Given the description of an element on the screen output the (x, y) to click on. 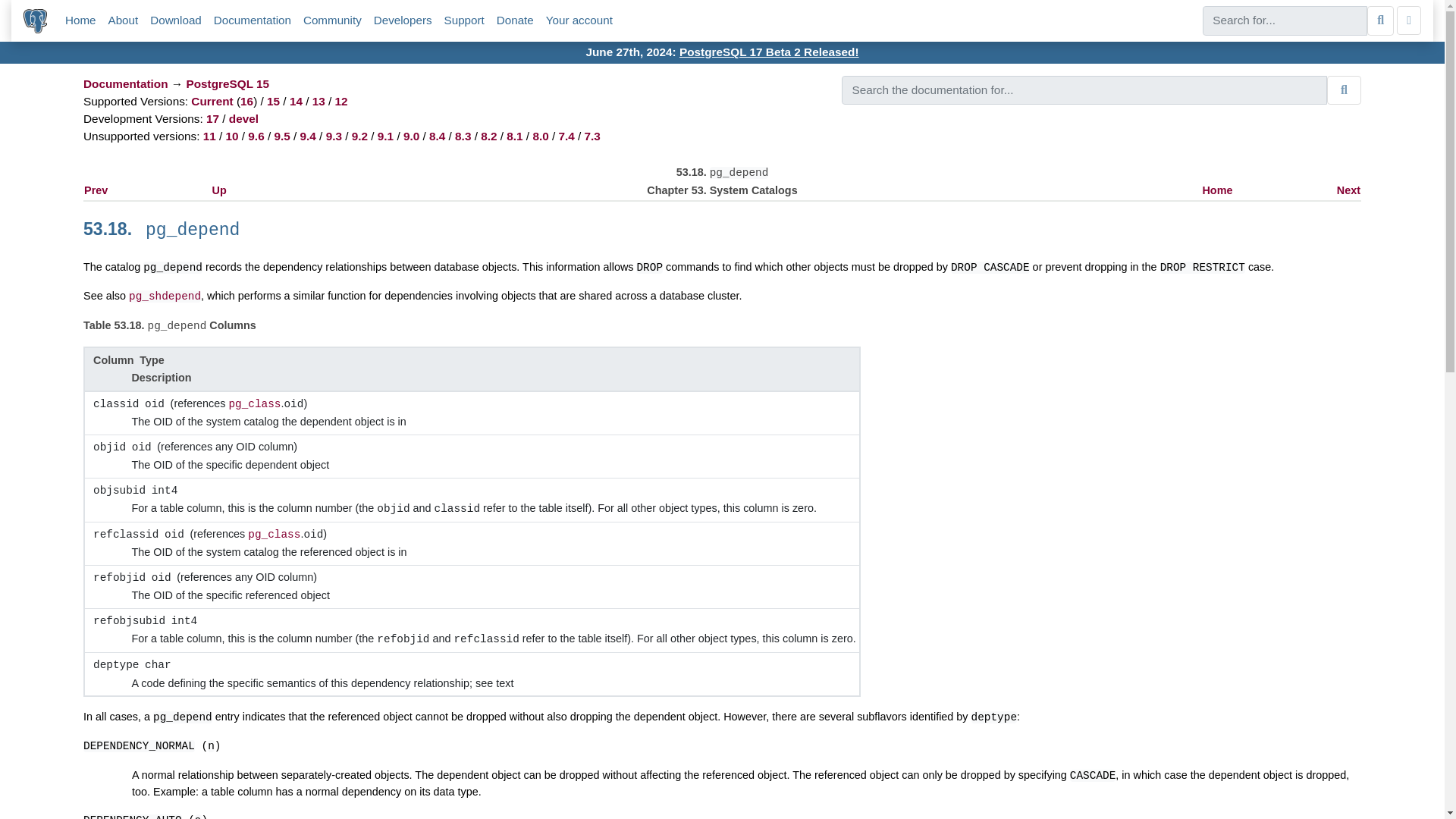
Home (80, 19)
Your account (579, 19)
14 (295, 101)
8.0 (540, 135)
9.4 (307, 135)
13 (318, 101)
Download (175, 19)
Documentation (125, 83)
Donate (515, 19)
8.4 (437, 135)
8.3 (462, 135)
Documentation (125, 83)
About (122, 19)
Documentation (252, 19)
devel (243, 118)
